Given the description of an element on the screen output the (x, y) to click on. 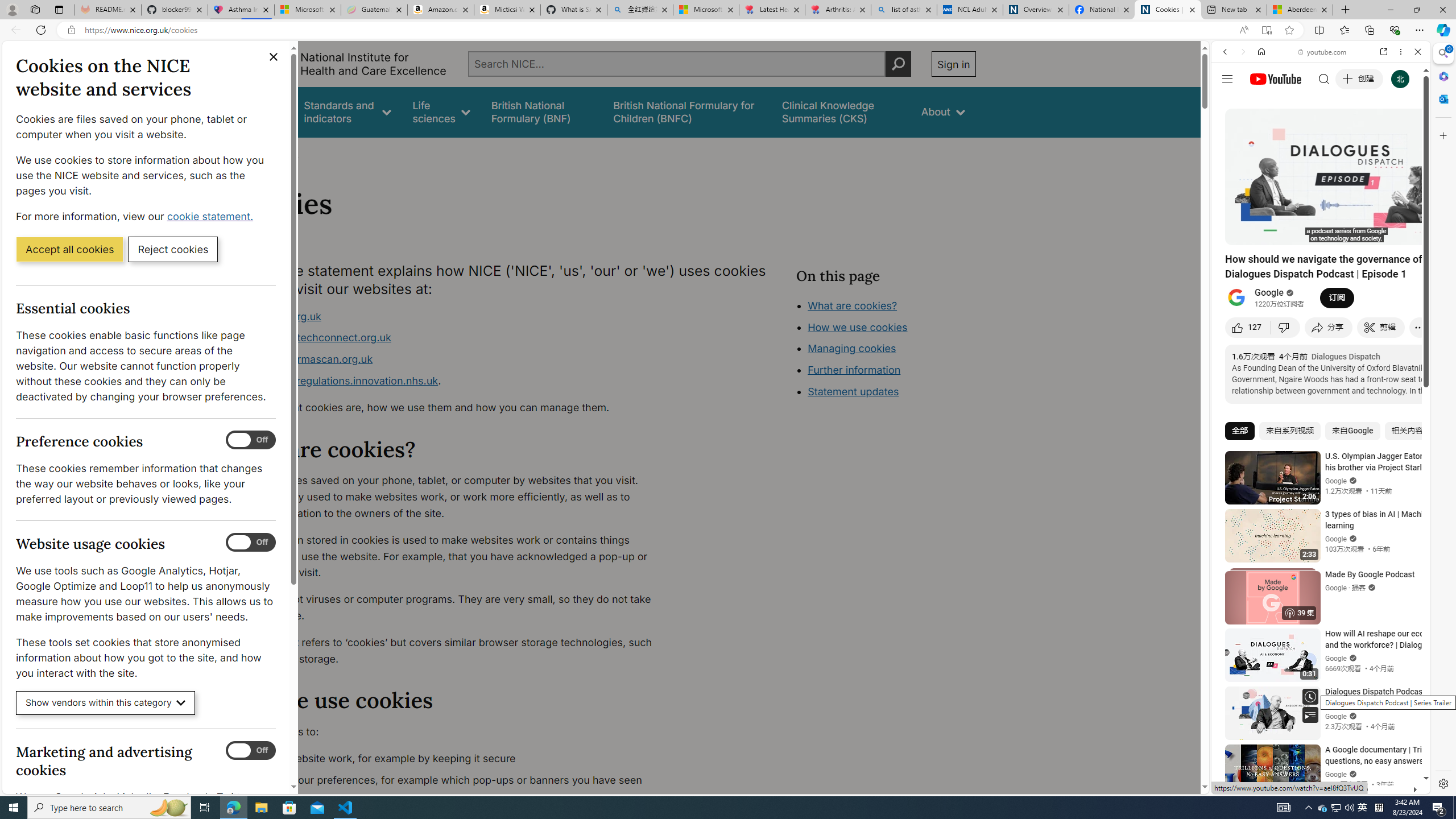
Close cookie banner (273, 56)
Life sciences (440, 111)
Home> (246, 152)
Show vendors within this category (105, 703)
Class: ytp-subtitles-button-icon (1368, 234)
www.ukpharmascan.org.uk (305, 359)
